Given the description of an element on the screen output the (x, y) to click on. 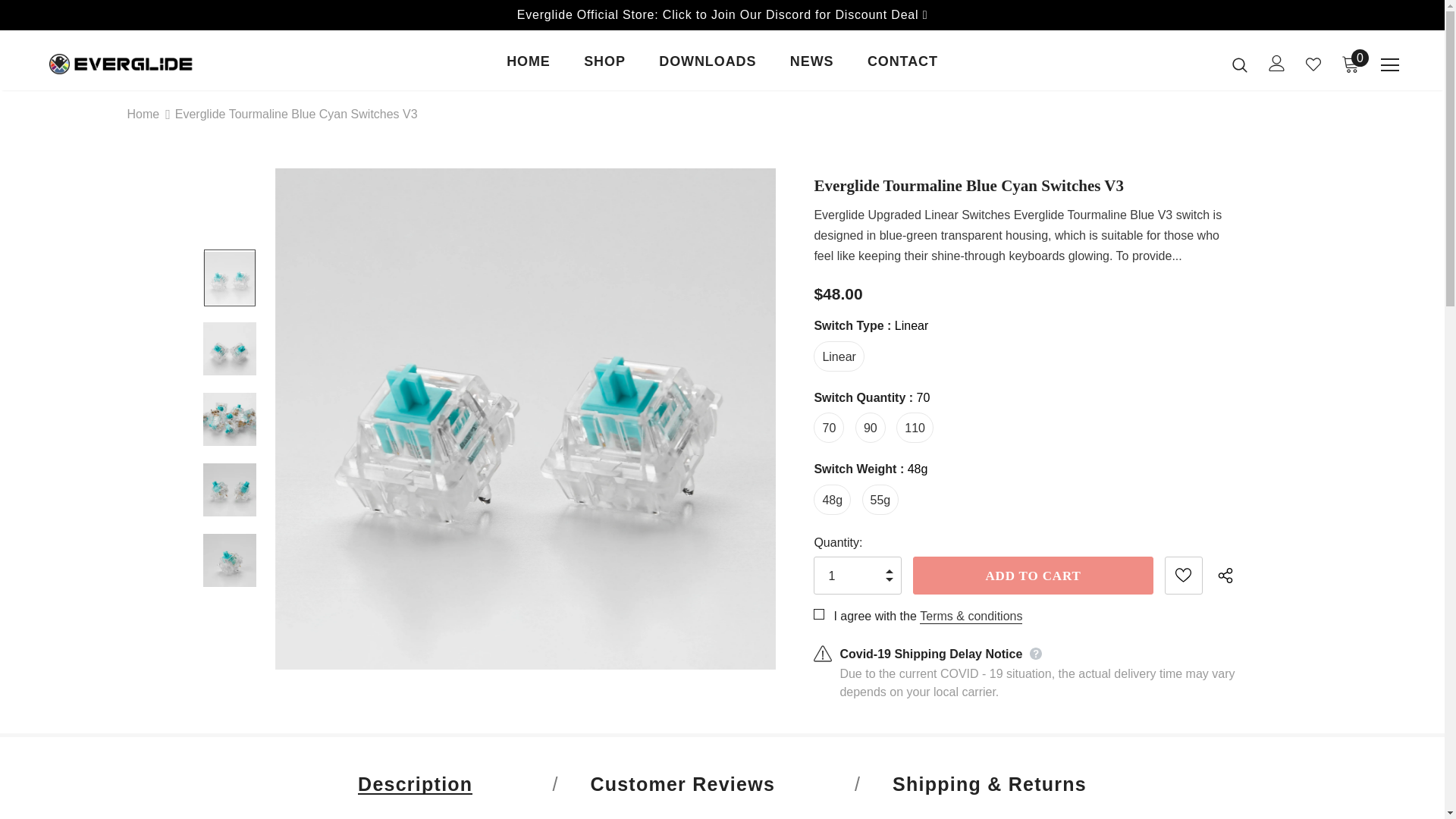
NEWS (812, 65)
Home (144, 114)
1 (853, 575)
Add to cart (1032, 575)
0 (1349, 63)
HOME (528, 65)
Logo (134, 63)
DOWNLOADS (707, 65)
Search Icon (1239, 64)
CONTACT (902, 65)
